Given the description of an element on the screen output the (x, y) to click on. 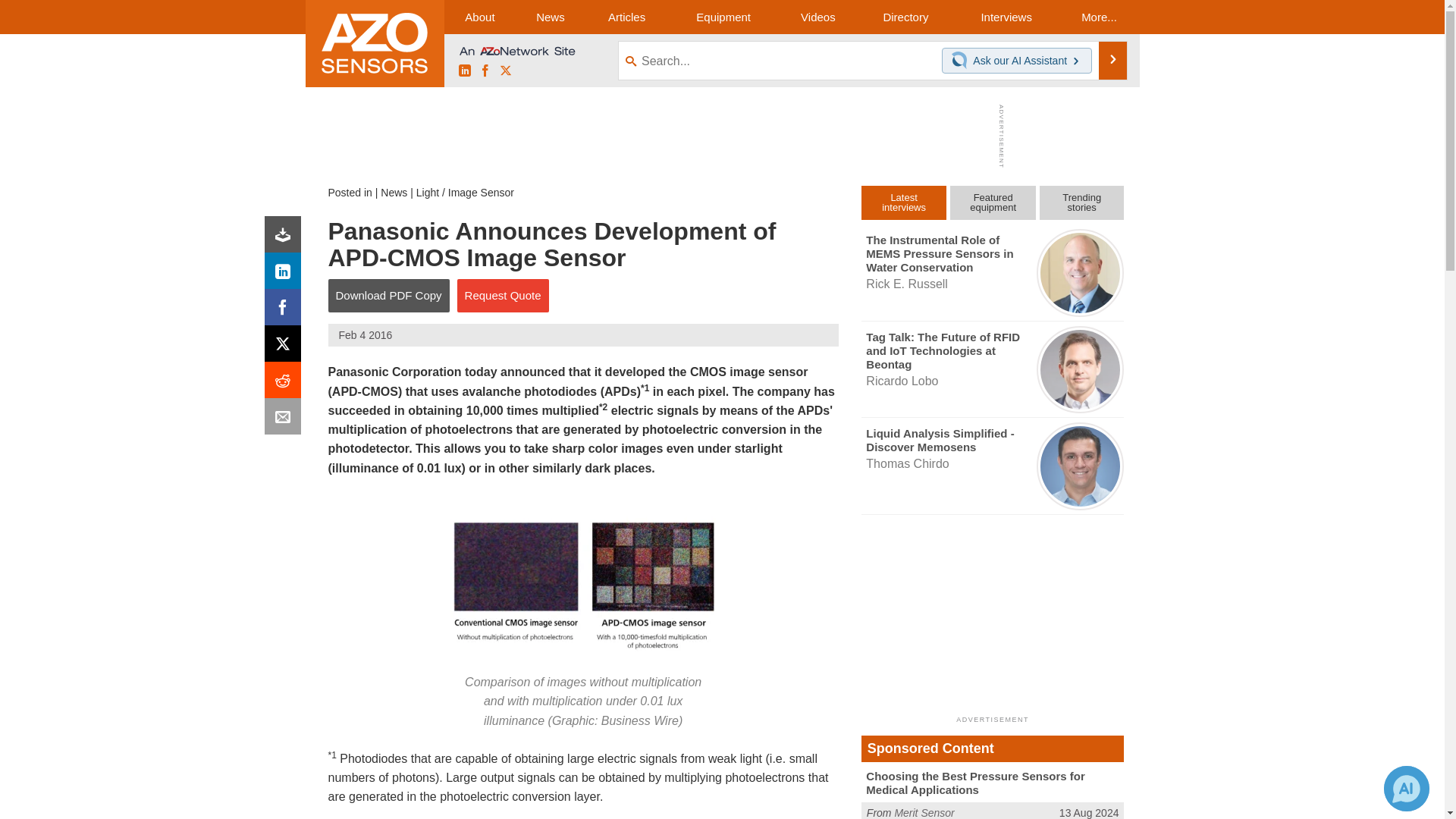
X (285, 348)
Interviews (1006, 17)
Download PDF Copy (387, 295)
LinkedIn (285, 275)
LinkedIn (464, 71)
Reddit (285, 384)
More... (1098, 17)
Facebook (285, 311)
Videos (817, 17)
3rd party ad content (992, 614)
